Given the description of an element on the screen output the (x, y) to click on. 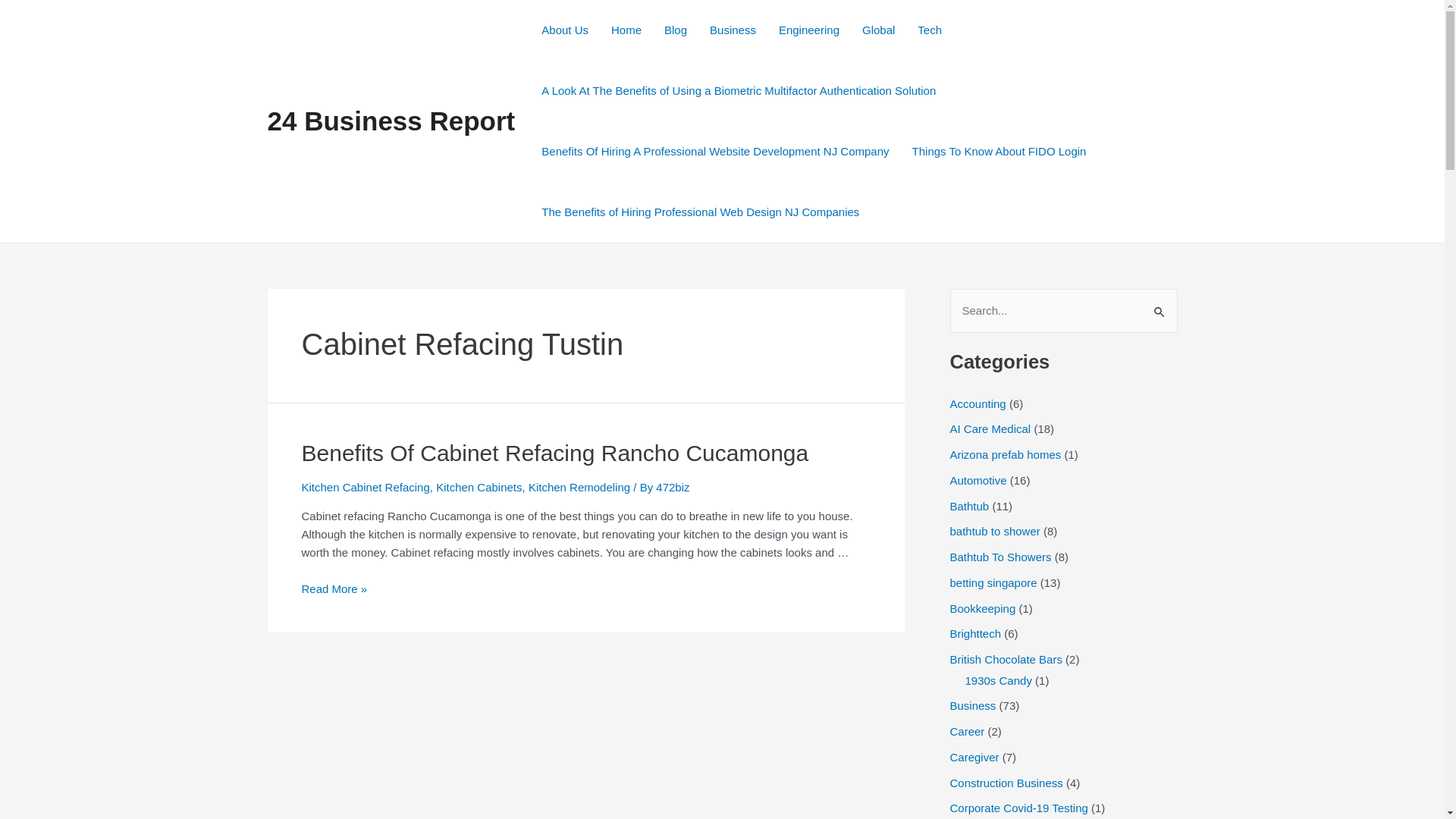
Kitchen Cabinet Refacing Element type: text (365, 486)
The Benefits of Hiring Professional Web Design NJ Companies Element type: text (700, 212)
Search Element type: text (1160, 304)
Kitchen Remodeling Element type: text (579, 486)
Bathtub Element type: text (968, 504)
Tech Element type: text (929, 30)
Business Element type: text (732, 30)
Construction Business Element type: text (1005, 782)
betting singapore Element type: text (992, 582)
Caregiver Element type: text (973, 756)
Global Element type: text (878, 30)
Blog Element type: text (675, 30)
Arizona prefab homes Element type: text (1004, 454)
Benefits Of Cabinet Refacing Rancho Cucamonga Element type: text (555, 452)
Corporate Covid-19 Testing Element type: text (1018, 807)
Career Element type: text (966, 730)
Accounting Element type: text (977, 403)
bathtub to shower Element type: text (994, 530)
AI Care Medical Element type: text (989, 428)
Automotive Element type: text (977, 479)
Kitchen Cabinets Element type: text (478, 486)
British Chocolate Bars Element type: text (1005, 658)
Things To Know About FIDO Login Element type: text (999, 151)
Engineering Element type: text (808, 30)
472biz Element type: text (672, 486)
Bookkeeping Element type: text (982, 608)
About Us Element type: text (564, 30)
Brighttech Element type: text (975, 633)
24 Business Report Element type: text (390, 120)
1930s Candy Element type: text (997, 679)
Home Element type: text (625, 30)
Business Element type: text (972, 705)
Bathtub To Showers Element type: text (1000, 556)
